Given the description of an element on the screen output the (x, y) to click on. 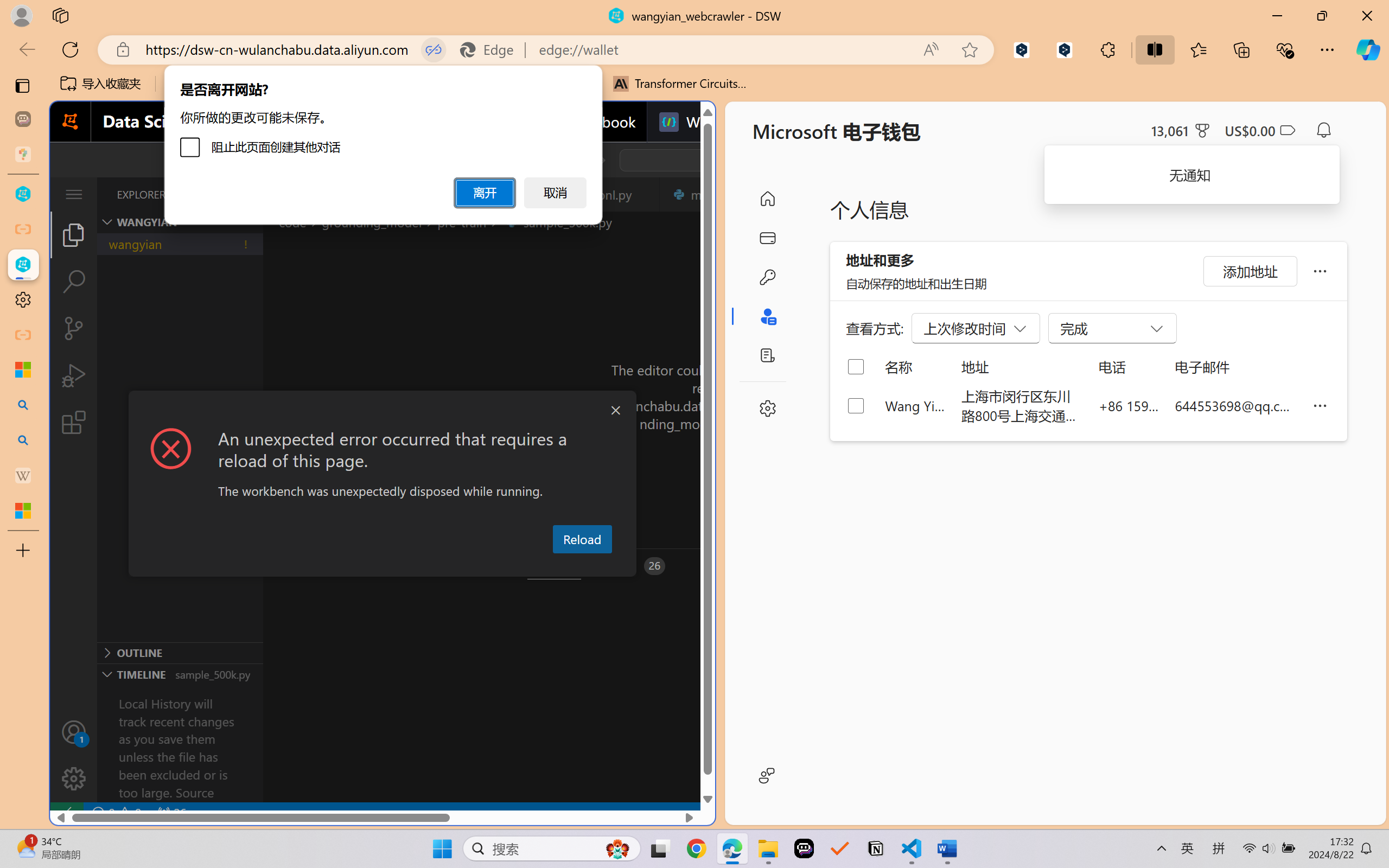
Outline Section (179, 652)
remote (66, 812)
Application Menu (73, 194)
Wang Yian (914, 405)
Google Chrome (696, 848)
